Given the description of an element on the screen output the (x, y) to click on. 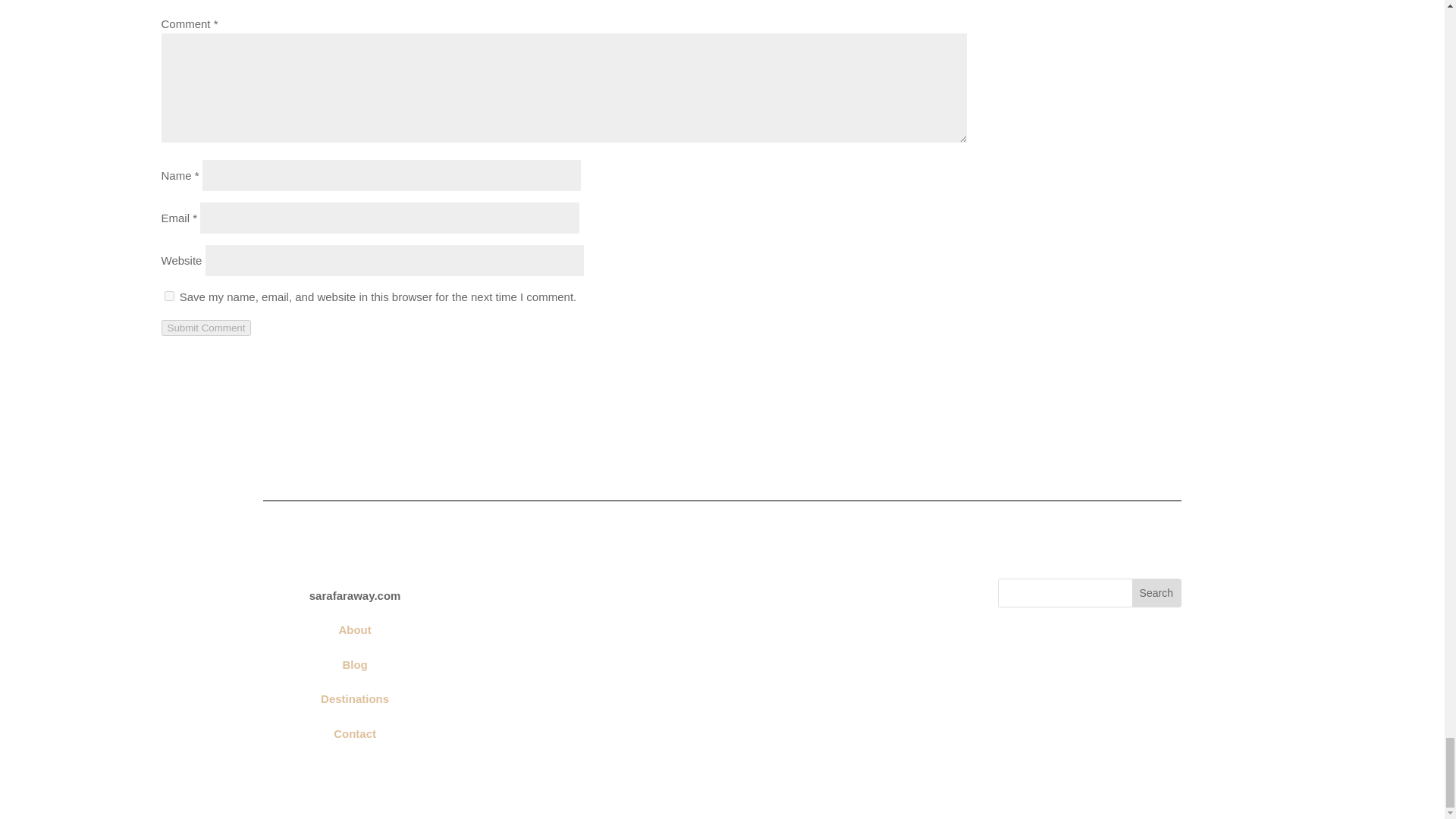
Search (1156, 592)
Search (1156, 592)
yes (168, 296)
